Given the description of an element on the screen output the (x, y) to click on. 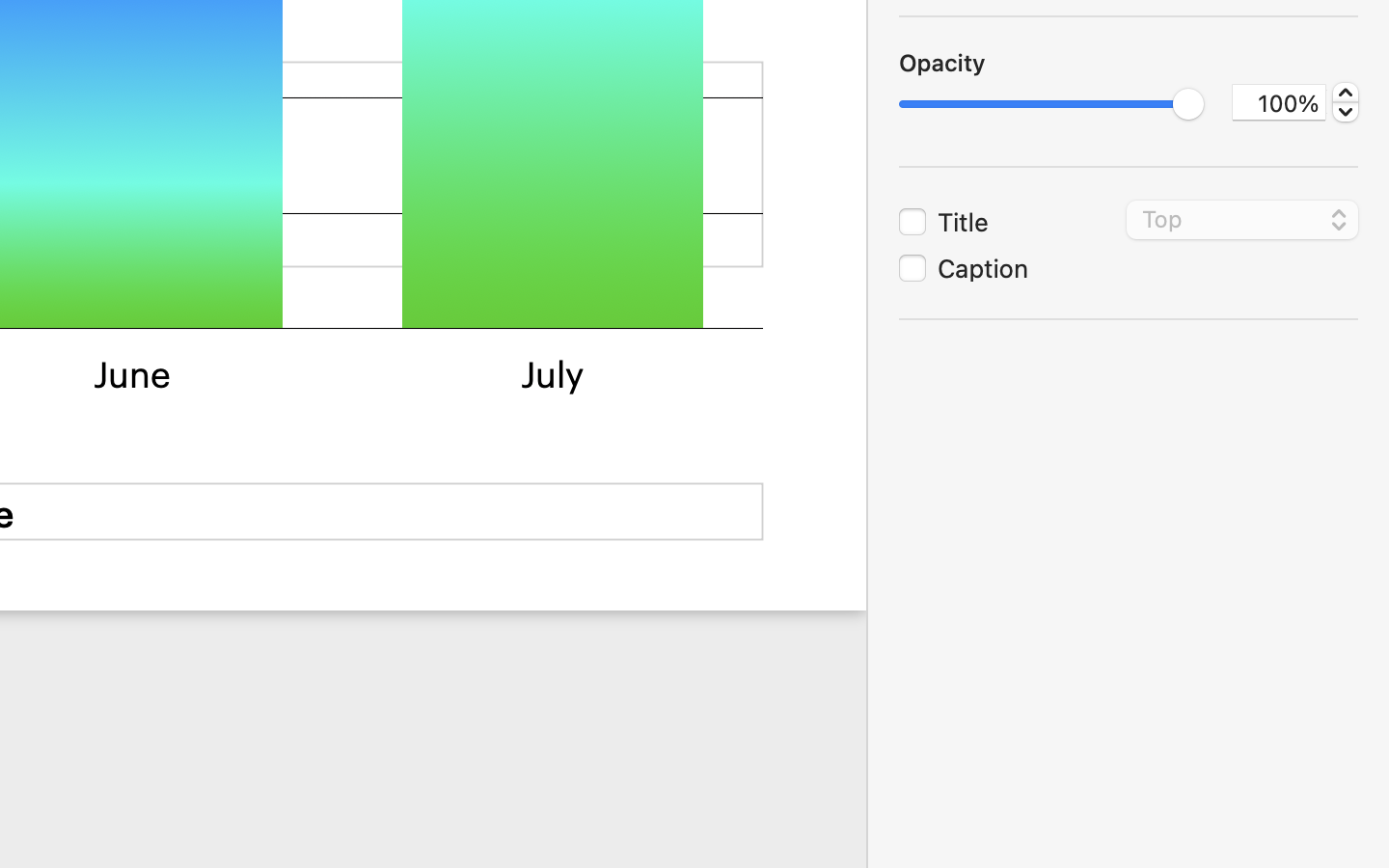
1.0 Element type: AXIncrementor (1345, 102)
Opacity Element type: AXStaticText (942, 62)
1.0 Element type: AXSlider (1051, 103)
100% Element type: AXTextField (1278, 101)
